Given the description of an element on the screen output the (x, y) to click on. 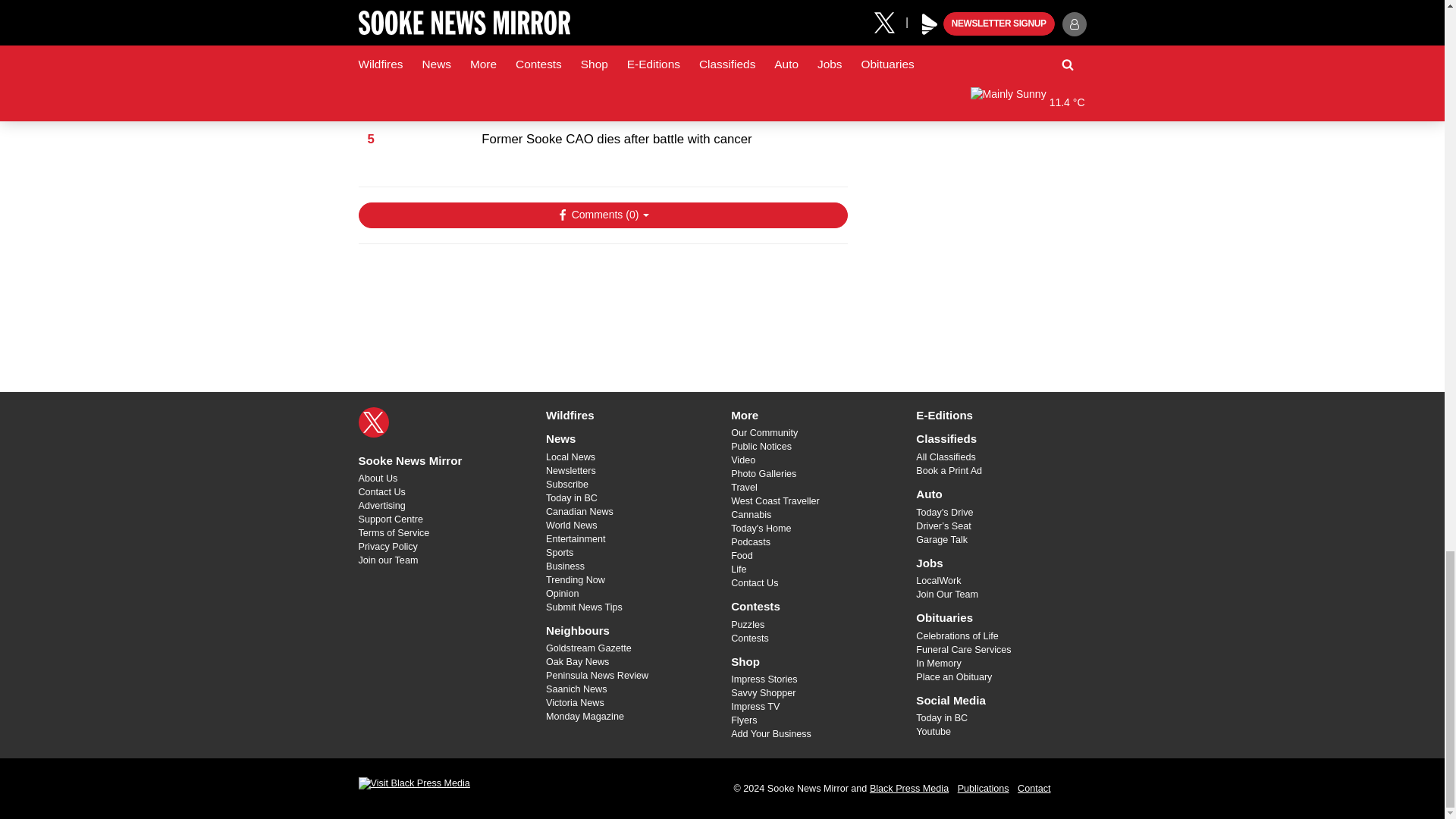
X (373, 422)
Show Comments (602, 215)
